Given the description of an element on the screen output the (x, y) to click on. 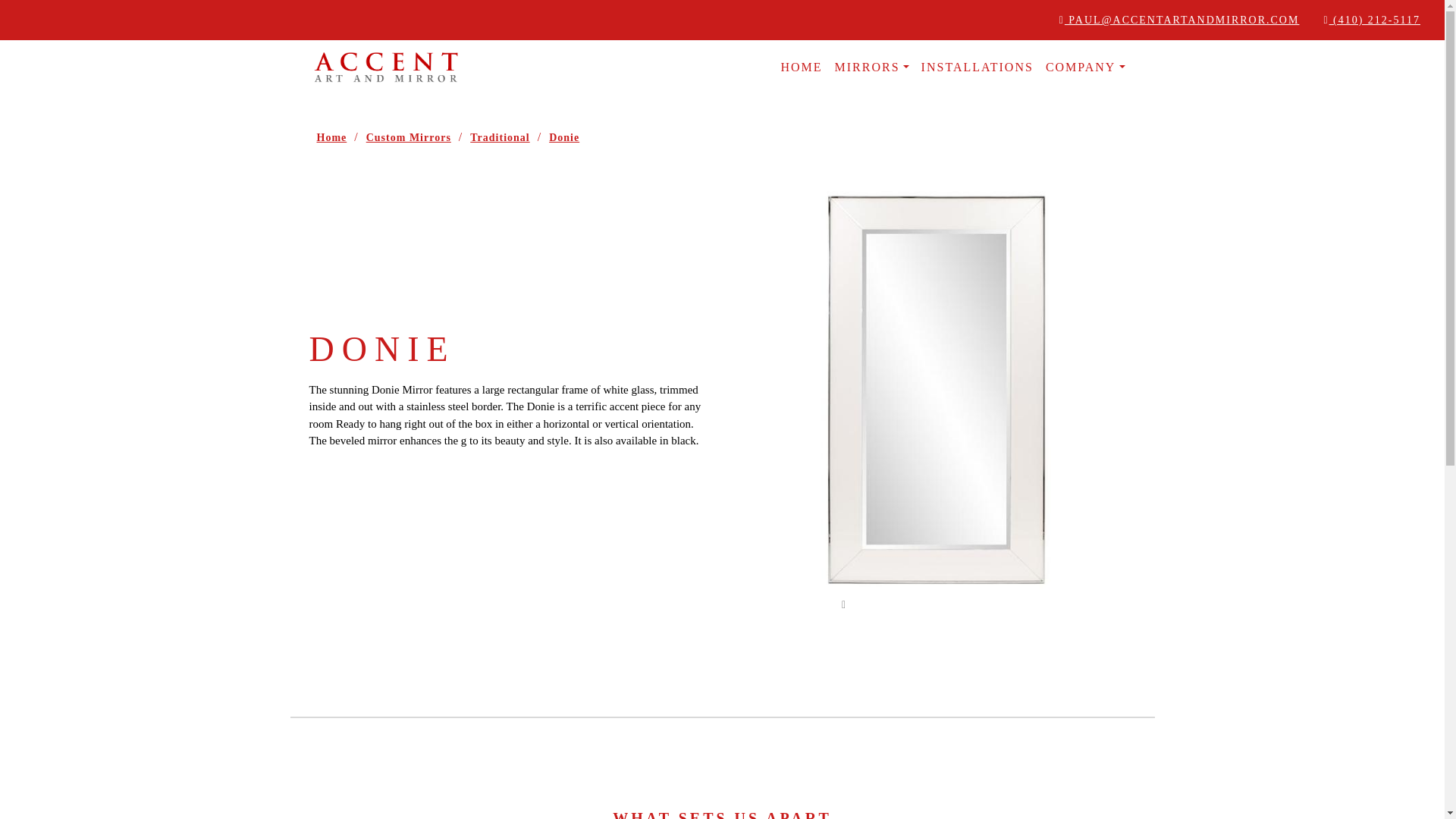
MIRRORS (871, 67)
COMPANY (1085, 67)
Donie (563, 137)
Home (331, 137)
HOME (801, 67)
Custom Mirrors (408, 137)
INSTALLATIONS (977, 67)
Traditional (500, 137)
